Given the description of an element on the screen output the (x, y) to click on. 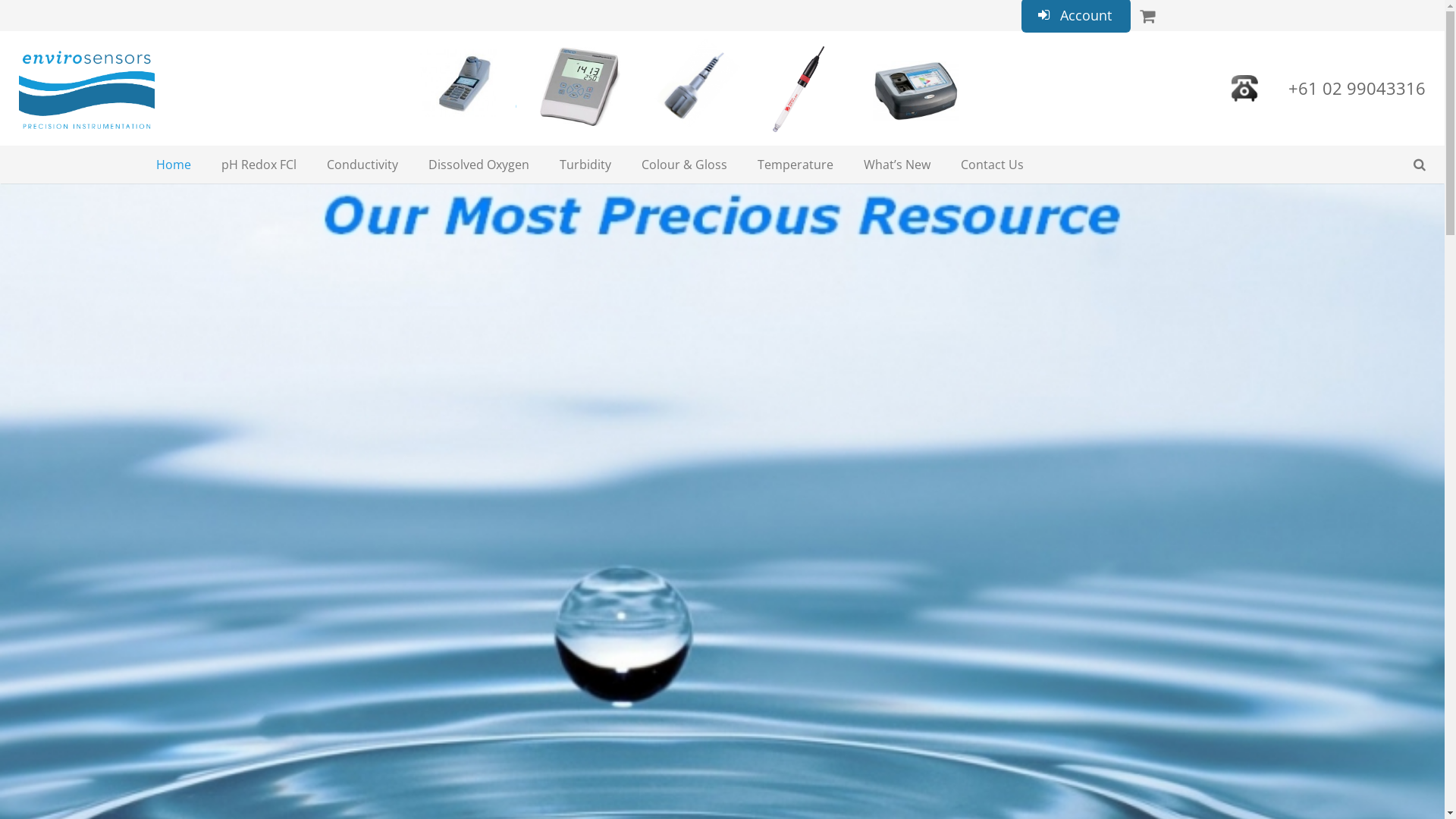
+61 02 99043316 Element type: text (1356, 87)
Home Element type: text (173, 164)
pH Redox FCl Element type: text (258, 164)
Colour & Gloss Element type: text (684, 164)
Turbidity Element type: text (585, 164)
Dissolved Oxygen Element type: text (478, 164)
Contact Us Element type: text (991, 164)
Temperature Element type: text (795, 164)
Conductivity Element type: text (362, 164)
